Given the description of an element on the screen output the (x, y) to click on. 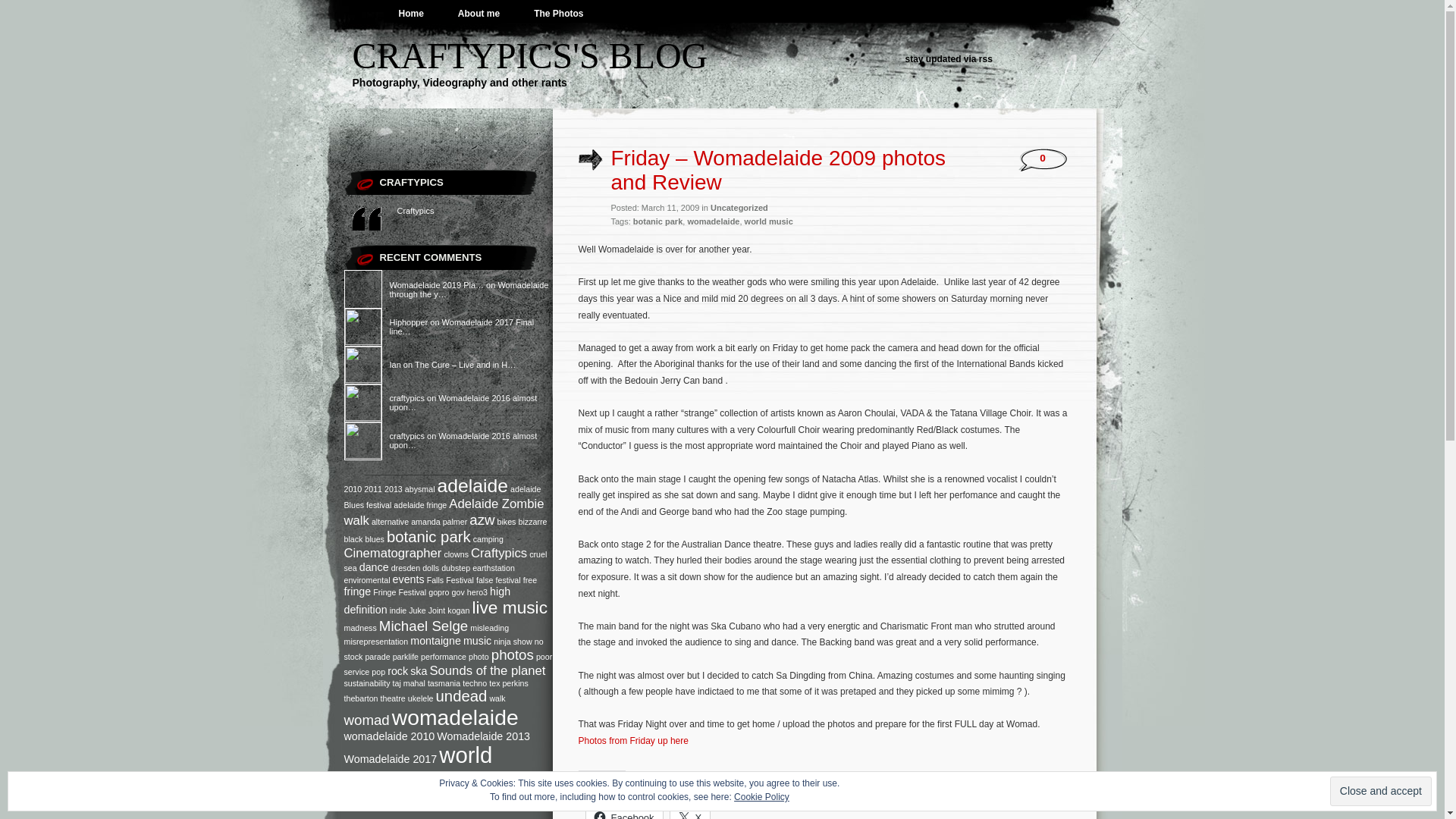
pop Element type: text (378, 671)
dresden dolls Element type: text (415, 567)
misrepresentation Element type: text (376, 641)
indie Element type: text (398, 610)
0 Element type: text (1042, 157)
ska Element type: text (418, 671)
CRAFTYPICS'S BLOG Element type: text (529, 55)
2011 Element type: text (373, 488)
adelaide fringe Element type: text (419, 504)
photos Element type: text (512, 654)
botanic park Element type: text (657, 220)
black Element type: text (353, 538)
ukelele Element type: text (420, 697)
adelaide Blues festival Element type: text (442, 496)
techno Element type: text (474, 682)
Ian Element type: hover (362, 364)
womad Element type: text (366, 720)
bikes Element type: text (506, 521)
Follow Element type: text (1375, 797)
The Photos Element type: text (558, 13)
enviromental Element type: text (367, 579)
Hiphopper Element type: hover (362, 326)
2013 Element type: text (393, 488)
2010 Element type: text (353, 488)
live music Element type: text (509, 607)
dance Element type: text (374, 567)
Uncategorized Element type: text (739, 207)
stay updated via rss Element type: text (948, 58)
Womadelaide 2013 Element type: text (483, 736)
no stock Element type: text (443, 649)
womadelaide 2010 Element type: text (389, 736)
performance Element type: text (443, 656)
festival Element type: text (507, 579)
thebarton theatre Element type: text (374, 697)
womadelaide Element type: text (455, 717)
Comment Element type: text (1300, 797)
Close and accept Element type: text (1380, 791)
azw Element type: text (481, 519)
poor service Element type: text (448, 664)
madness Element type: text (360, 627)
high definition Element type: text (427, 600)
camping Element type: text (488, 538)
Home Element type: text (411, 13)
tasmania Element type: text (443, 682)
kogan Element type: text (458, 610)
womadelaide Element type: text (713, 220)
CRAFTYPICS Element type: text (410, 182)
taj mahal Element type: text (408, 682)
bizzarre Element type: text (532, 521)
Womadelaide 2019 Playing Times | Craftypics's Blog Element type: hover (362, 288)
Cinematographer Element type: text (393, 553)
misleading Element type: text (489, 627)
zombie Element type: text (428, 783)
false Element type: text (484, 579)
Sounds of the planet Element type: text (487, 670)
craftypics Element type: hover (362, 440)
dubstep Element type: text (455, 567)
Womadelaide 2017 Element type: text (390, 759)
parade Element type: text (376, 656)
Craftypics Element type: text (415, 210)
Craftypics Element type: text (498, 553)
fringe Element type: text (357, 591)
cruel sea Element type: text (445, 560)
Fringe Festival Element type: text (399, 591)
abysmal Element type: text (419, 488)
Adelaide Zombie walk Element type: text (444, 511)
free Element type: text (529, 579)
clowns Element type: text (455, 553)
earthstation Element type: text (493, 567)
tex perkins Element type: text (508, 682)
gov Element type: text (457, 591)
Michael Selge Element type: text (423, 625)
ninja show Element type: text (512, 641)
Photos from Friday up here Element type: text (632, 740)
events Element type: text (408, 579)
walk Element type: text (497, 697)
sustainability Element type: text (367, 682)
hero3 Element type: text (477, 591)
Falls Festival Element type: text (449, 579)
gopro Element type: text (438, 591)
alternative Element type: text (389, 521)
About me Element type: text (478, 13)
undead Element type: text (461, 695)
world music Element type: text (768, 220)
rock Element type: text (397, 671)
world music Element type: text (418, 767)
parklife Element type: text (405, 656)
craftypics Element type: hover (362, 402)
amanda palmer Element type: text (439, 521)
blues Element type: text (373, 538)
Juke Joint Element type: text (426, 610)
montaigne Element type: text (435, 640)
Cookie Policy Element type: text (761, 796)
botanic park Element type: text (428, 536)
music Element type: text (477, 640)
photo Element type: text (478, 656)
adelaide Element type: text (472, 485)
